Given the description of an element on the screen output the (x, y) to click on. 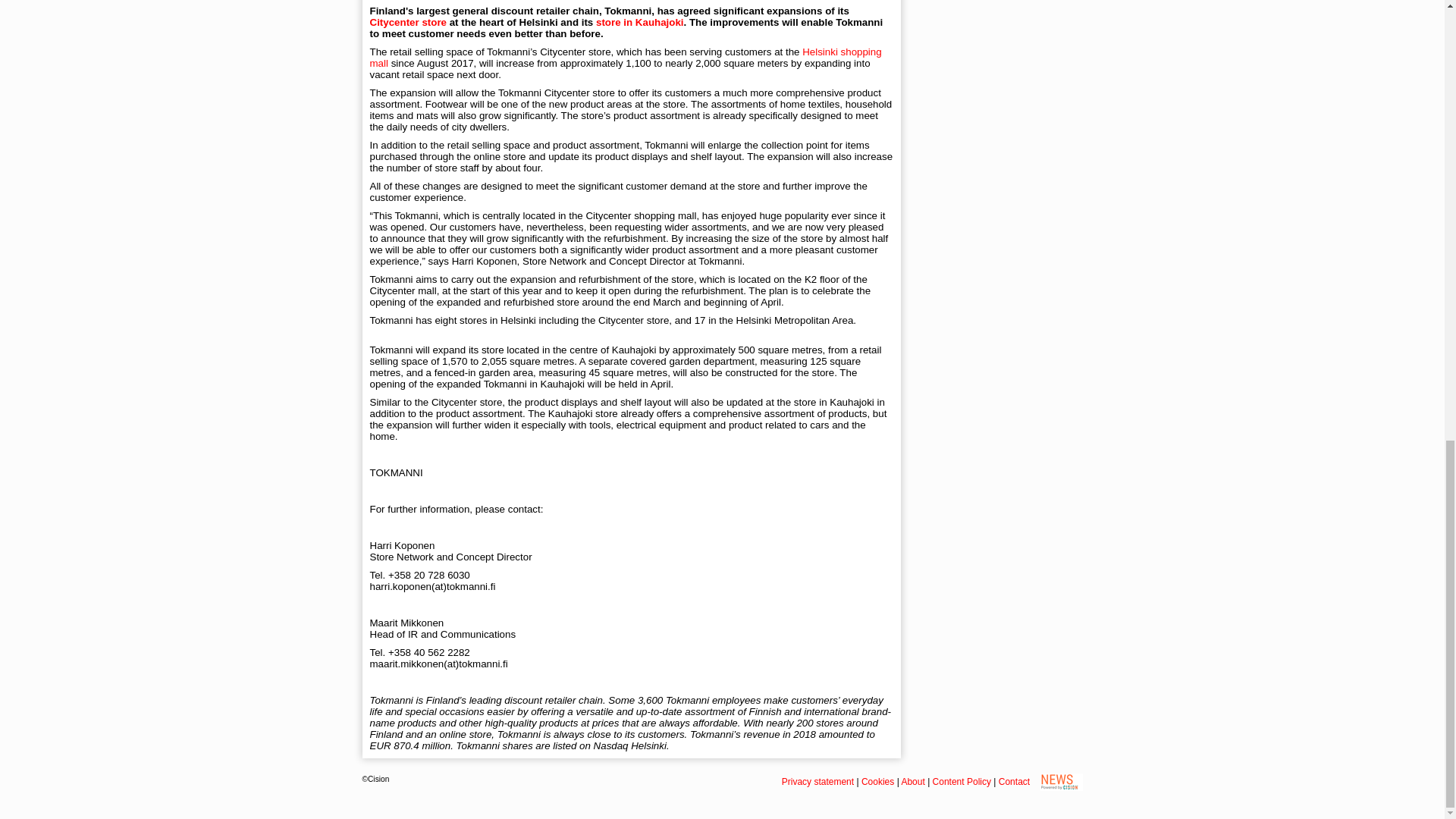
Helsinki shopping mall (625, 56)
store in Kauhajoki (639, 21)
Citycenter store (407, 21)
